Given the description of an element on the screen output the (x, y) to click on. 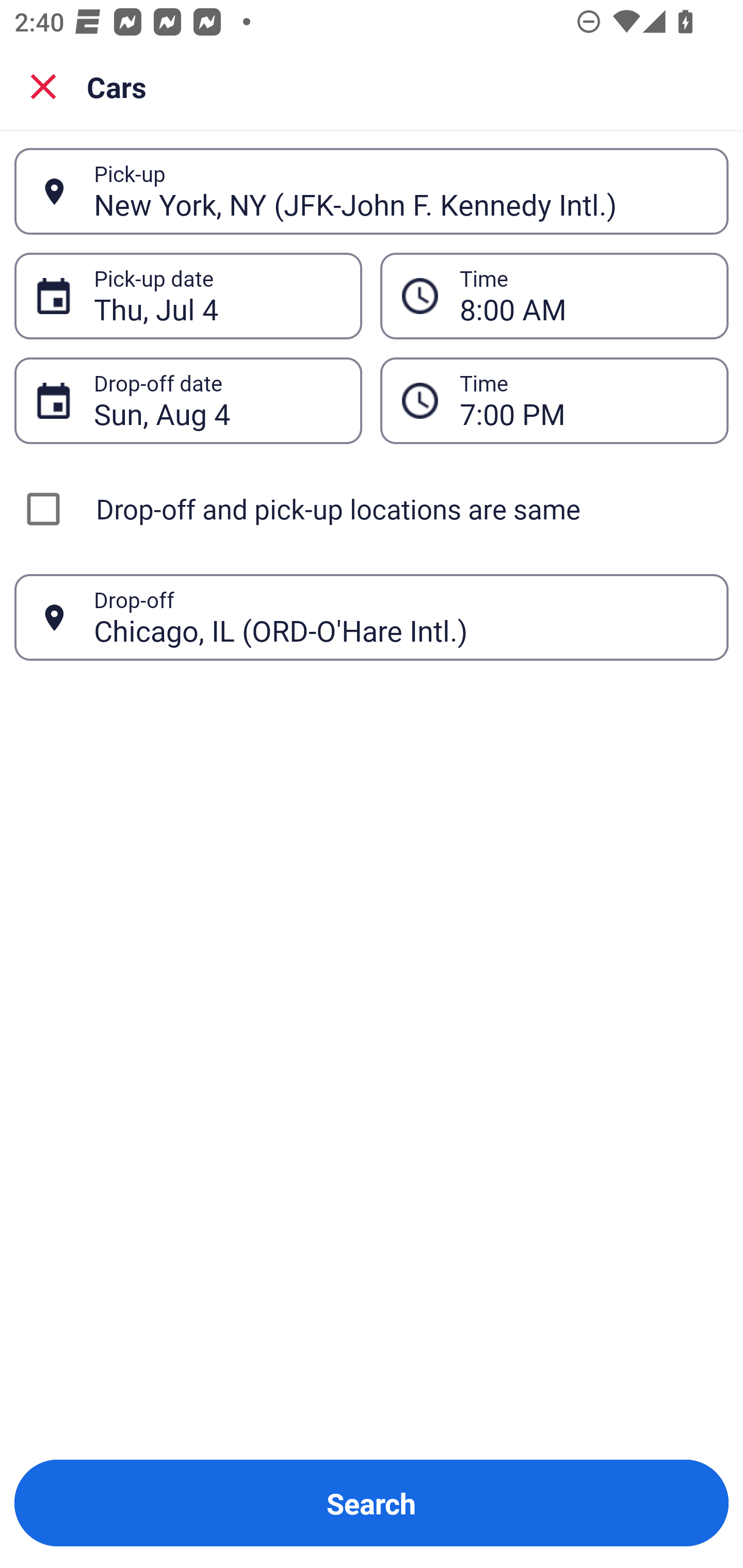
Close search screen (43, 86)
New York, NY (JFK-John F. Kennedy Intl.) Pick-up (371, 191)
New York, NY (JFK-John F. Kennedy Intl.) (399, 191)
Thu, Jul 4 Pick-up date (188, 295)
8:00 AM (554, 295)
Thu, Jul 4 (216, 296)
8:00 AM (582, 296)
Sun, Aug 4 Drop-off date (188, 400)
7:00 PM (554, 400)
Sun, Aug 4 (216, 400)
7:00 PM (582, 400)
Drop-off and pick-up locations are same (371, 508)
Chicago, IL (ORD-O'Hare Intl.) Drop-off (371, 616)
Chicago, IL (ORD-O'Hare Intl.) (399, 616)
Search Button Search (371, 1502)
